Given the description of an element on the screen output the (x, y) to click on. 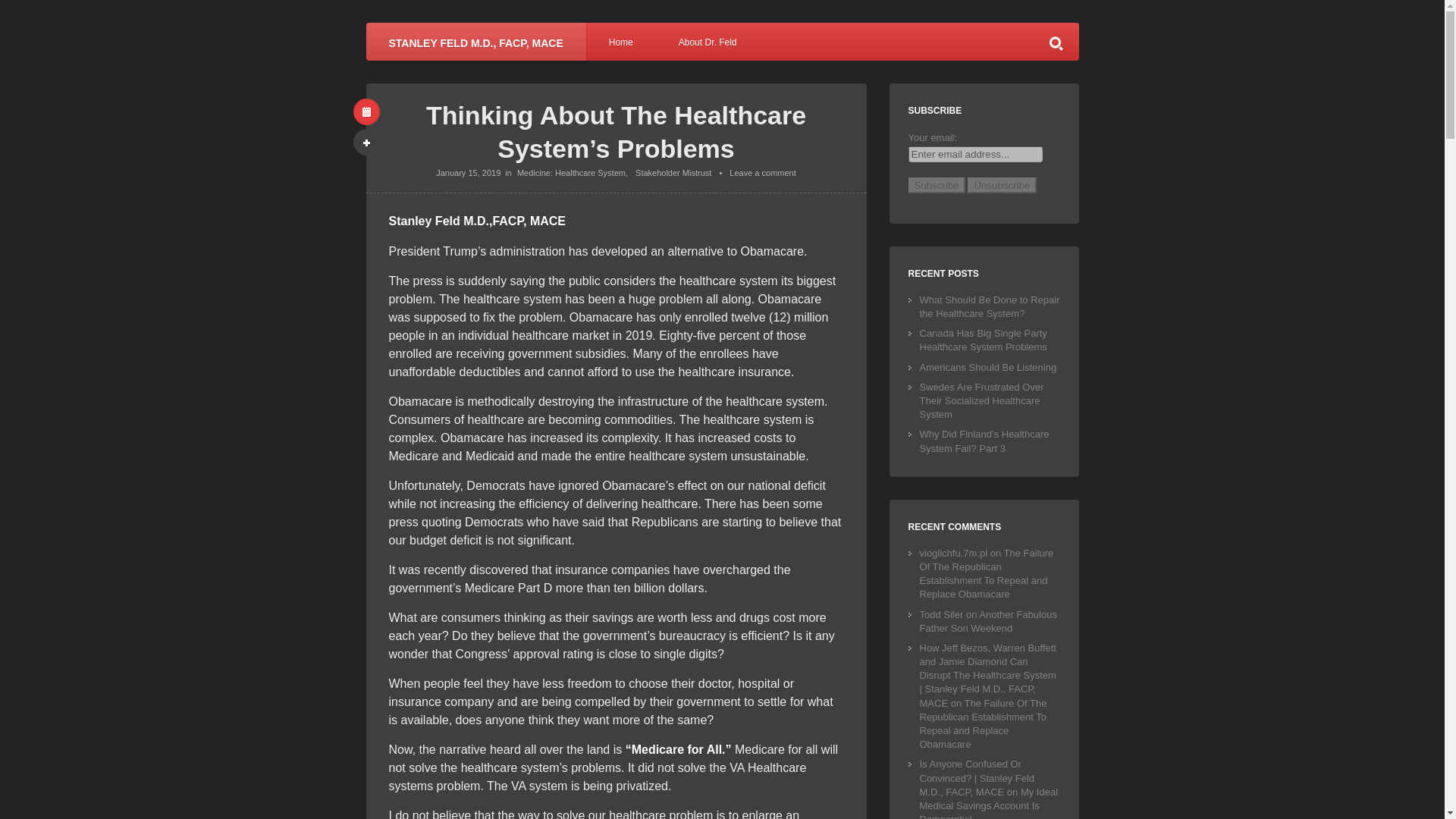
vioglichfu.7m.pl (952, 552)
Unsubscribe (1001, 185)
STANLEY FELD M.D., FACP, MACE (475, 41)
Todd Siler (940, 614)
Medicine: Healthcare System (571, 172)
Another Fabulous Father Son Weekend (987, 621)
Subscribe (936, 185)
Canada Has Big Single Party Healthcare System Problems (982, 339)
Unsubscribe (1001, 185)
